Given the description of an element on the screen output the (x, y) to click on. 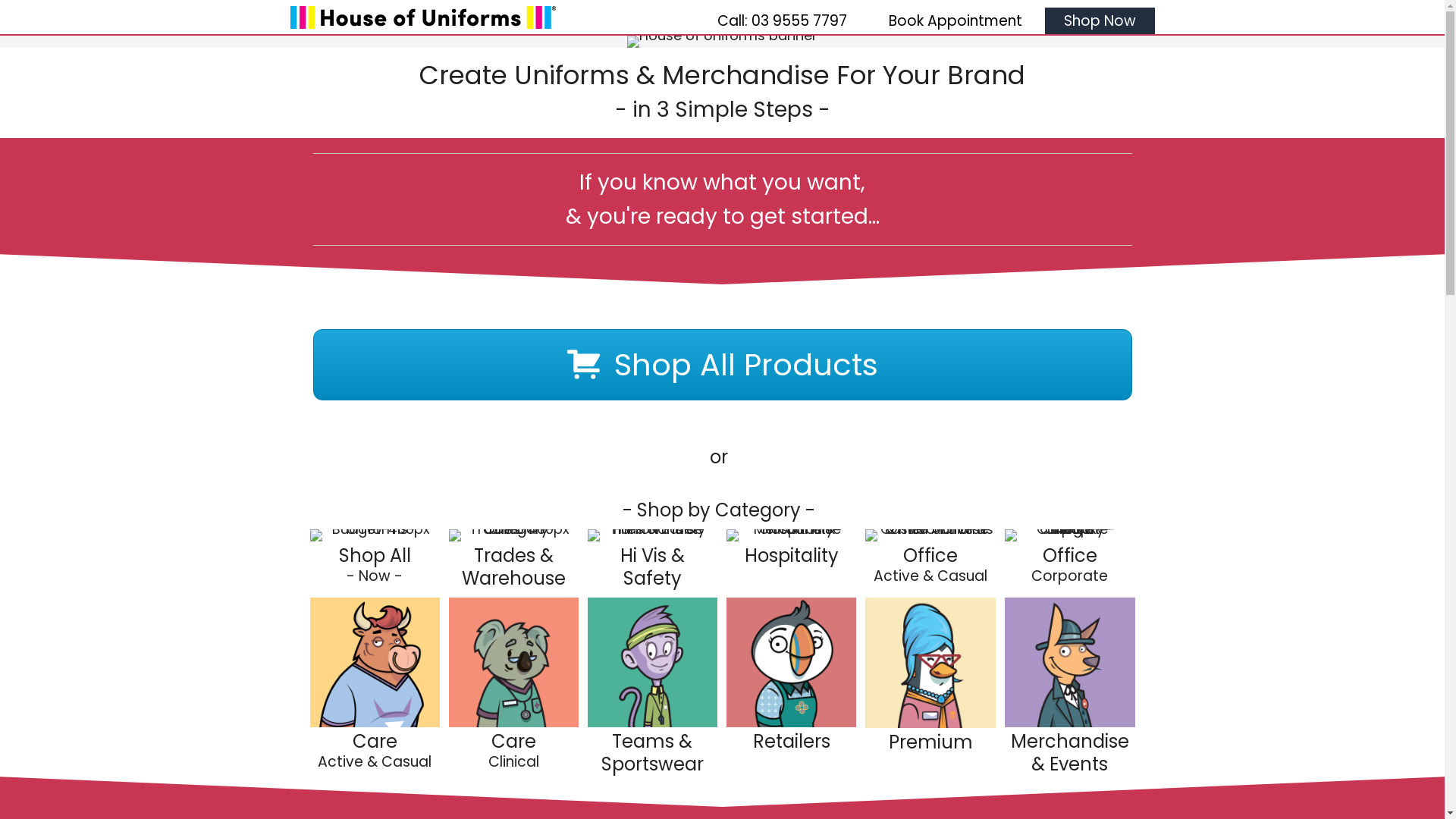
Uniforms-Budget-400px Element type: hover (374, 535)
- Now - Element type: text (374, 575)
Safety Element type: text (652, 577)
Office Element type: text (1069, 554)
Care Element type: text (374, 740)
Shop All Element type: text (374, 554)
Clinical Element type: text (513, 761)
Uniforms-Office-Casual-400px Element type: hover (930, 535)
Uniforms-Premium-400px Element type: hover (930, 662)
Teams & Sportswear Element type: text (652, 752)
Hi Vis & Element type: text (652, 554)
Retailers Element type: text (791, 740)
Active & Casual Element type: text (930, 575)
Uniform-Category-Tradies-400px Element type: hover (513, 535)
Uniform-Category-Care-Clinical-400px Element type: hover (513, 662)
Premium Element type: text (930, 741)
Trades & Warehouse Element type: text (513, 566)
Active & Casual Element type: text (374, 761)
Uniforms-Care-Active-400px Element type: hover (374, 662)
Corporate Element type: text (1069, 575)
Shop Now Element type: text (1099, 20)
House-of-Uniforms-Character-Banner Element type: hover (722, 41)
Hospitality Element type: text (791, 554)
Merchandise & Events Element type: text (1069, 752)
Uniform-Category-Teams-Sports-400px Element type: hover (652, 662)
Uniforms-Retailers-400px Element type: hover (791, 662)
Uniforms-Merchandise-400px Element type: hover (1069, 662)
Uniform-Category-Office-Corporate-400px Element type: hover (1069, 535)
Call: 03 9555 7797 Element type: text (781, 20)
Book Appointment Element type: text (954, 20)
Uniforms-HiVis & Safety-1080px Element type: hover (652, 535)
Office Element type: text (930, 554)
Care Element type: text (513, 740)
Uniforms-Hospitality-400px Element type: hover (791, 535)
Shop All Products Element type: text (721, 364)
HOU Element type: text (422, 17)
